Given the description of an element on the screen output the (x, y) to click on. 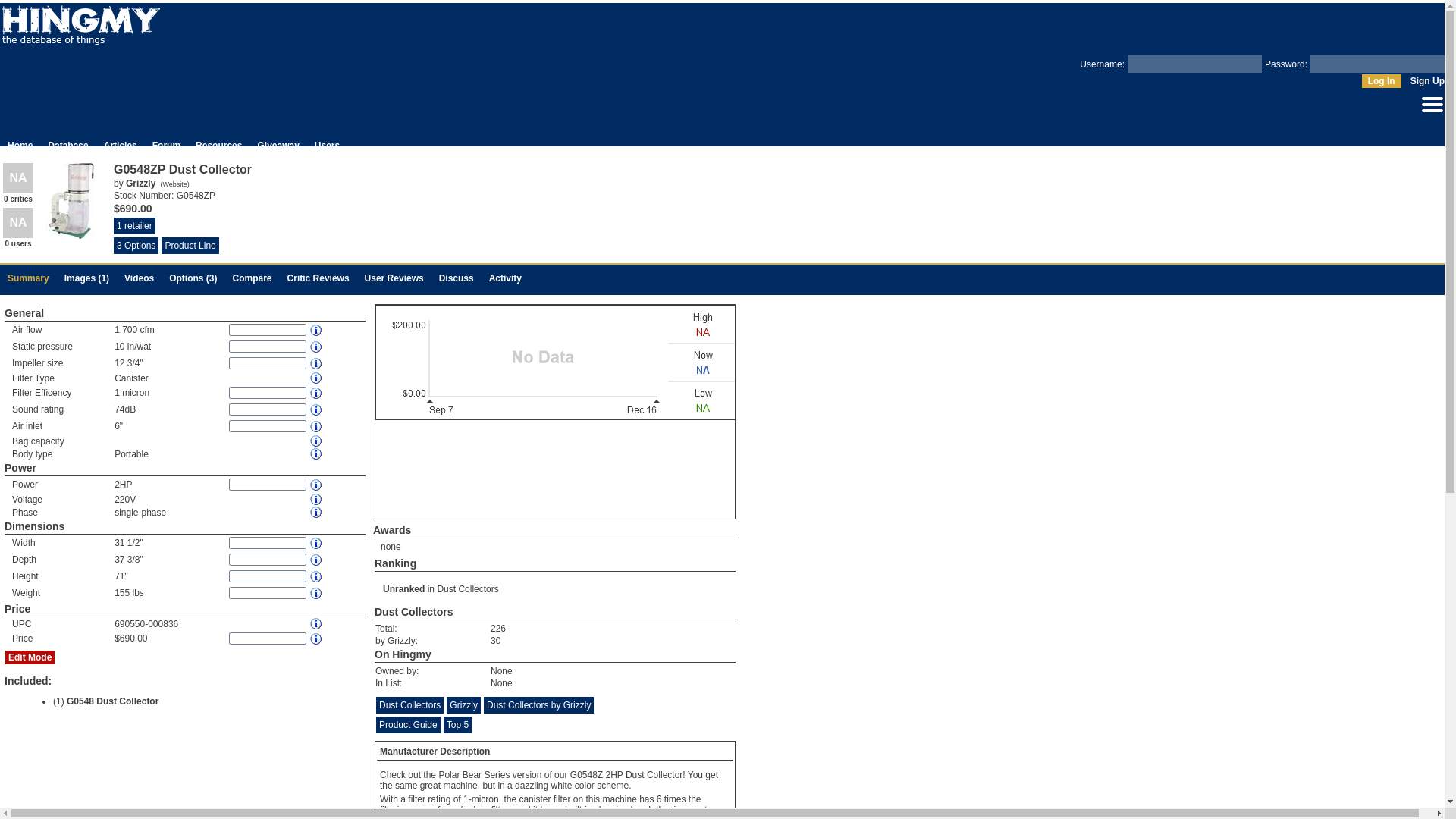
View the entire product line. (189, 245)
3 Options (135, 245)
Log In (1380, 80)
Database (67, 145)
Forum (166, 145)
Visit the manufacturer's page for the G0548ZP Dust Collector (173, 184)
Videos (138, 277)
Manage your profile (1432, 113)
All products made by Grizzly (140, 183)
Giveaway (277, 145)
